Given the description of an element on the screen output the (x, y) to click on. 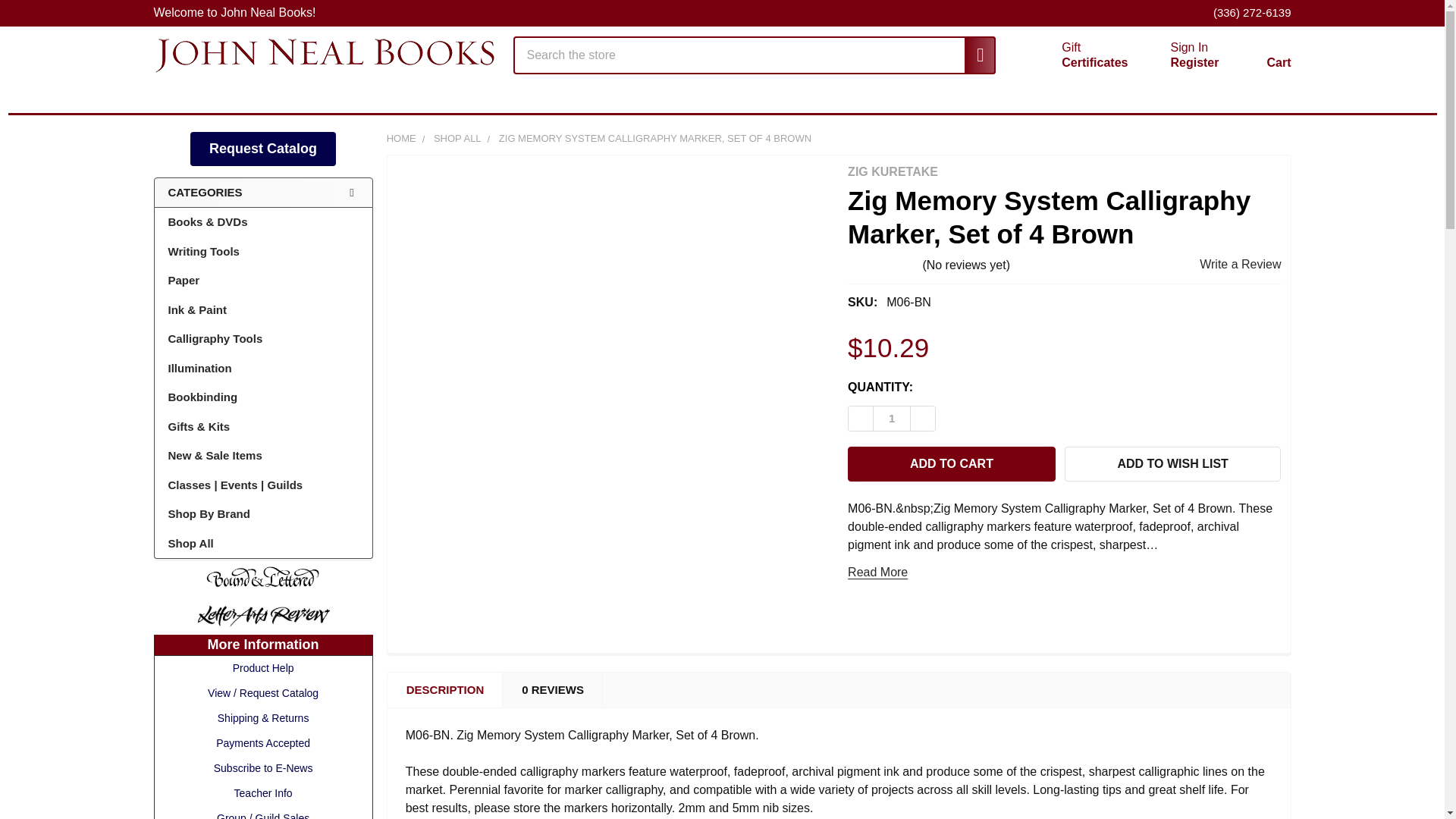
John Neal Books (323, 54)
Add to Cart (951, 463)
Instagram (1276, 92)
Cart (1260, 58)
Search (1076, 55)
Search (972, 55)
Facebook (972, 55)
Cart (1245, 92)
Register (1260, 58)
1 (1194, 62)
Sign In (891, 418)
Gift Certificates (1189, 47)
